Given the description of an element on the screen output the (x, y) to click on. 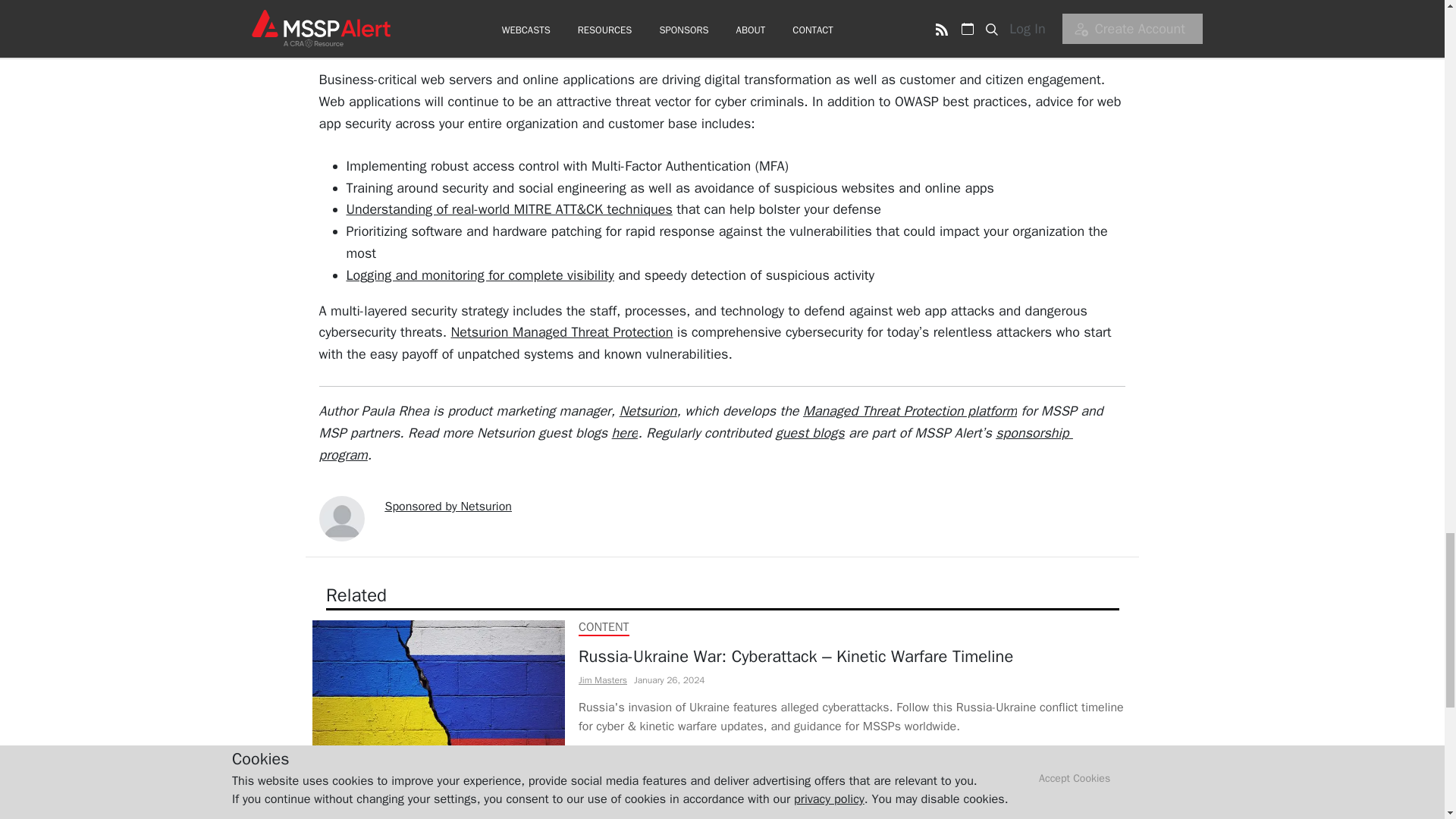
MANAGED SECURITY SERVICES (661, 782)
here (625, 433)
Managed Threat Protection platform (909, 410)
Netsurion Managed Threat Protection (560, 331)
CONTENT (603, 626)
Netsurion (648, 410)
sponsorship program (694, 444)
Sponsored by Netsurion (448, 506)
Logging and monitoring for complete visibility (479, 274)
Jim Masters (602, 680)
